Given the description of an element on the screen output the (x, y) to click on. 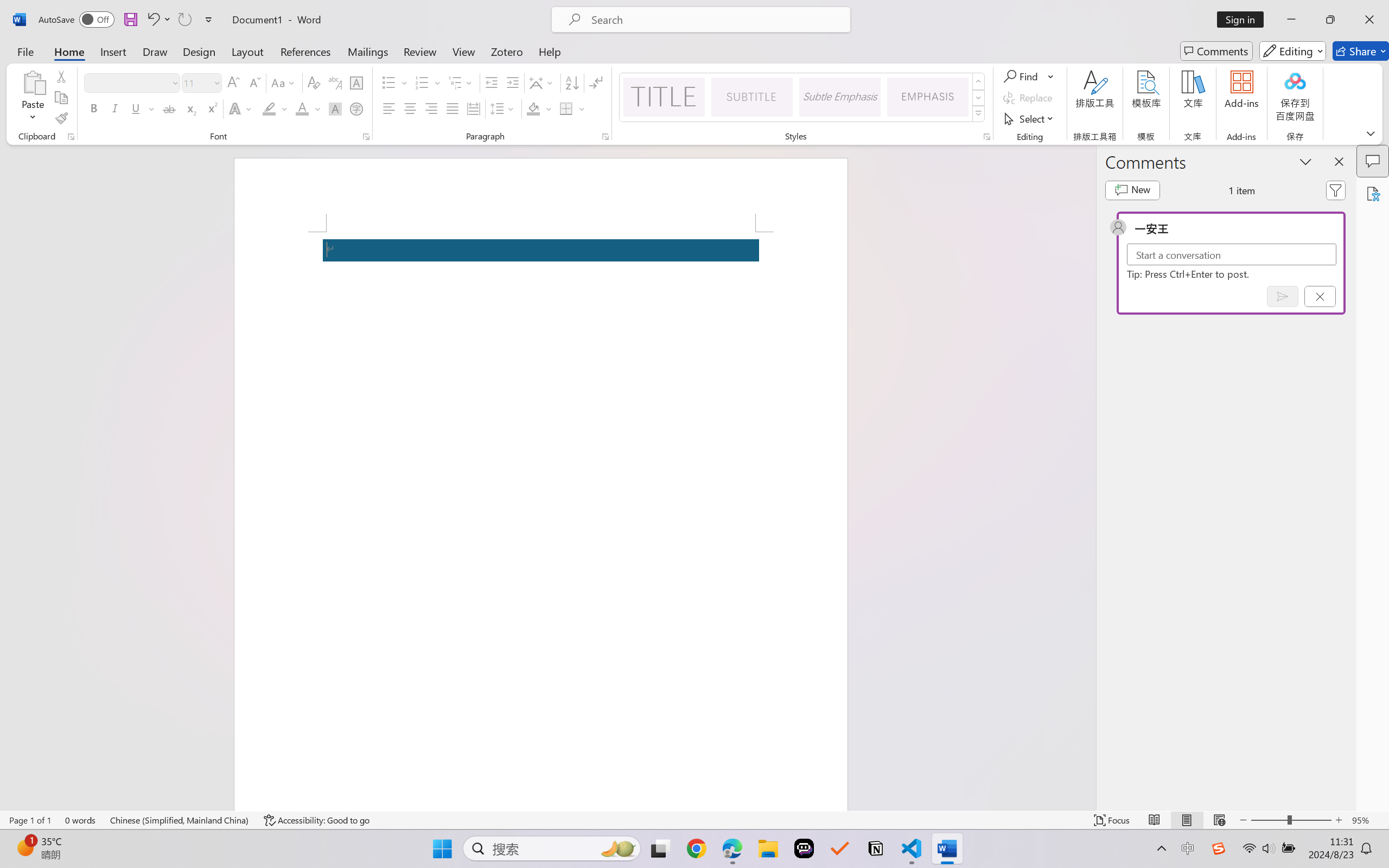
Undo Apply Quick Style Set (158, 19)
Repeat Accessibility Checker (184, 19)
Font Color RGB(255, 0, 0) (302, 108)
Accessibility Assistant (1373, 193)
